Given the description of an element on the screen output the (x, y) to click on. 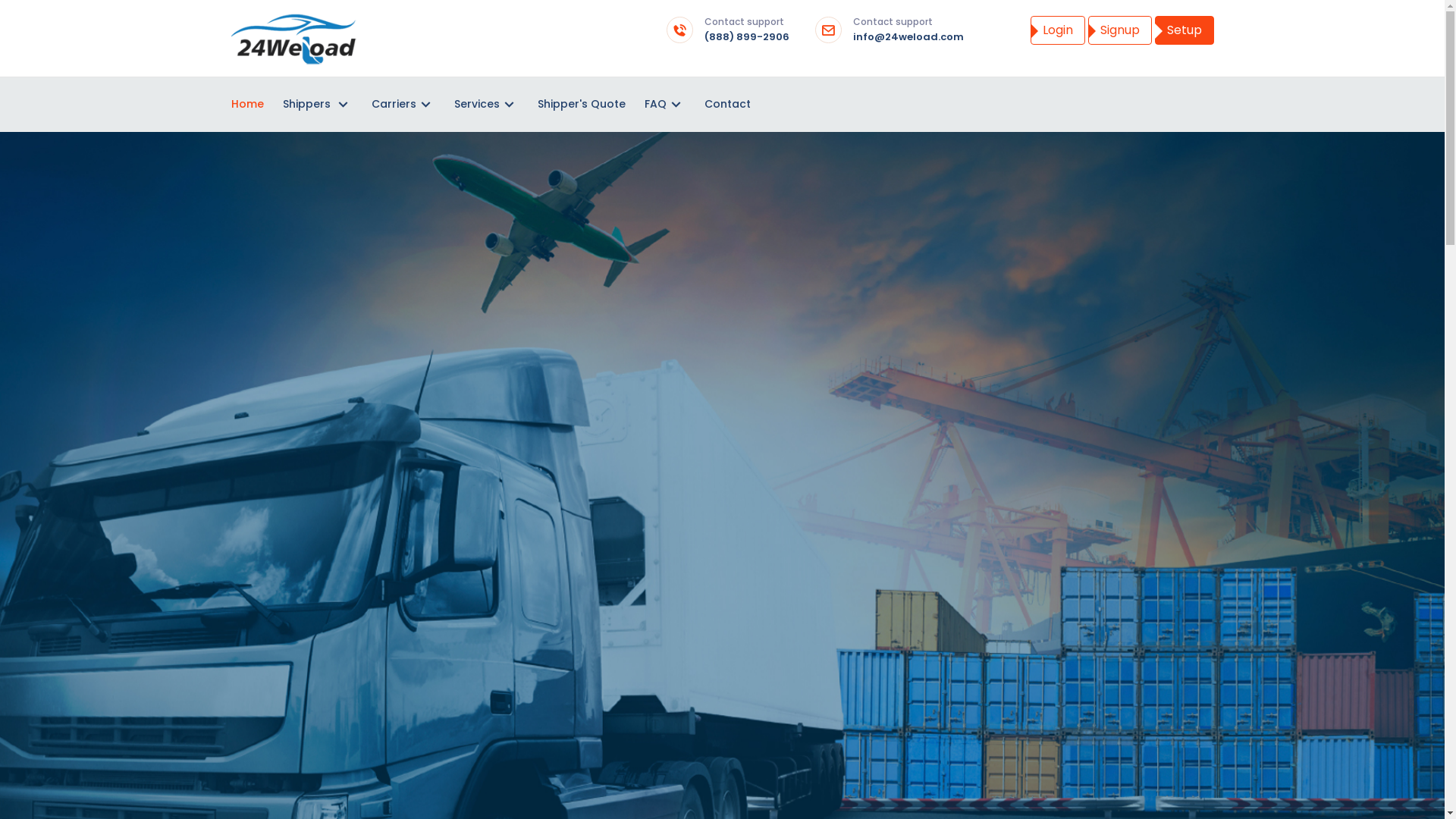
Shippers Element type: text (316, 103)
Carriers Element type: text (403, 103)
Request A Quote Element type: text (721, 716)
Home Element type: text (246, 103)
FAQ Element type: text (664, 103)
Services Element type: text (485, 103)
Shipper'S Quote Element type: text (580, 103)
(888) 899-2906 Element type: text (745, 36)
info@24weload.com Element type: text (907, 36)
Setup Element type: text (1183, 29)
Signup Element type: text (1119, 29)
Login Element type: text (1056, 29)
Contact Element type: text (726, 103)
